Given the description of an element on the screen output the (x, y) to click on. 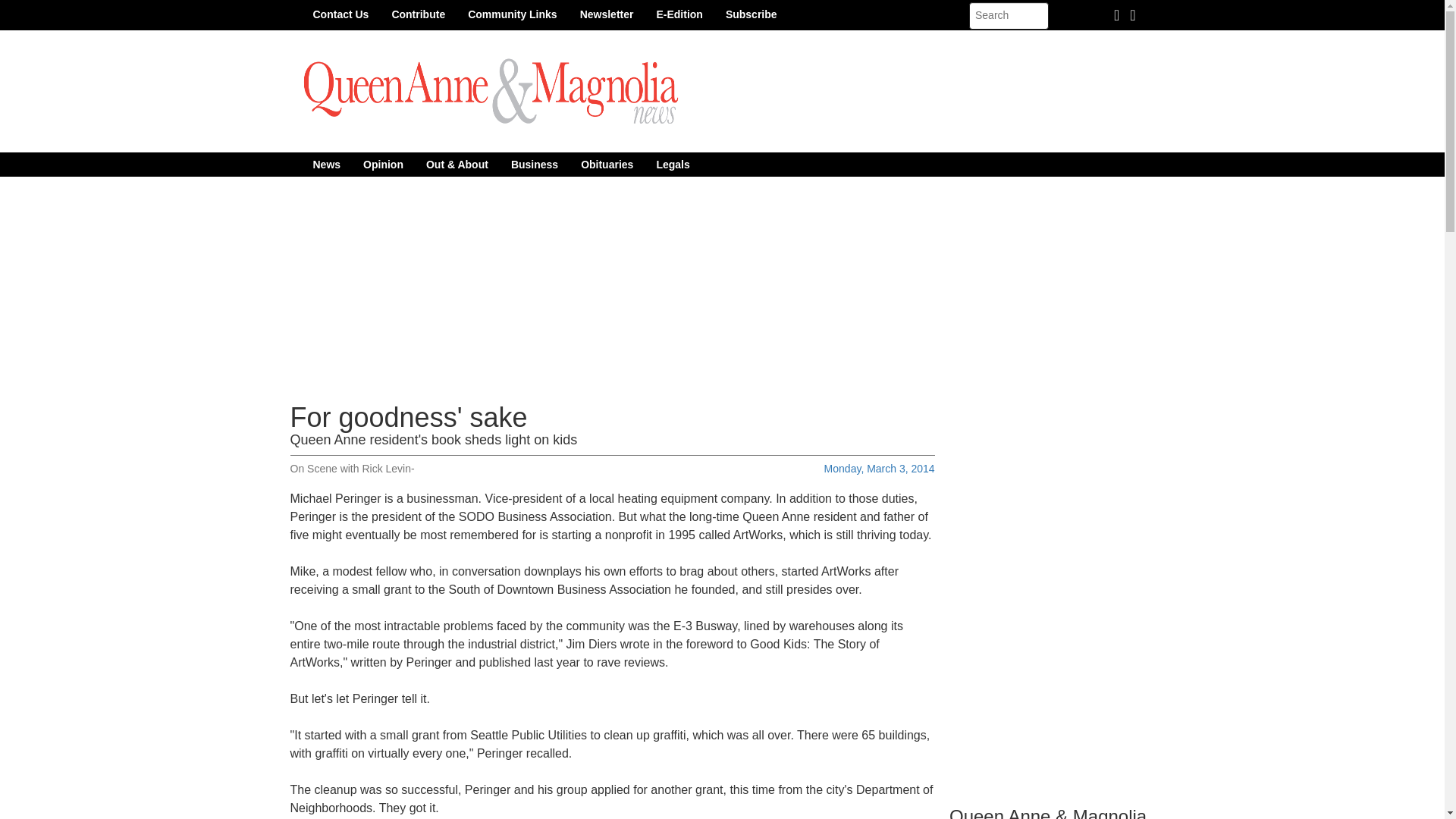
Community Links (512, 14)
Business (534, 164)
Subscribe (751, 14)
Contribute (418, 14)
Opinion (383, 164)
Monday, March 3, 2014 (879, 468)
Obituaries (607, 164)
Contact Us (340, 14)
E-Edition (679, 14)
Newsletter (607, 14)
News (326, 164)
Legals (672, 164)
